Given the description of an element on the screen output the (x, y) to click on. 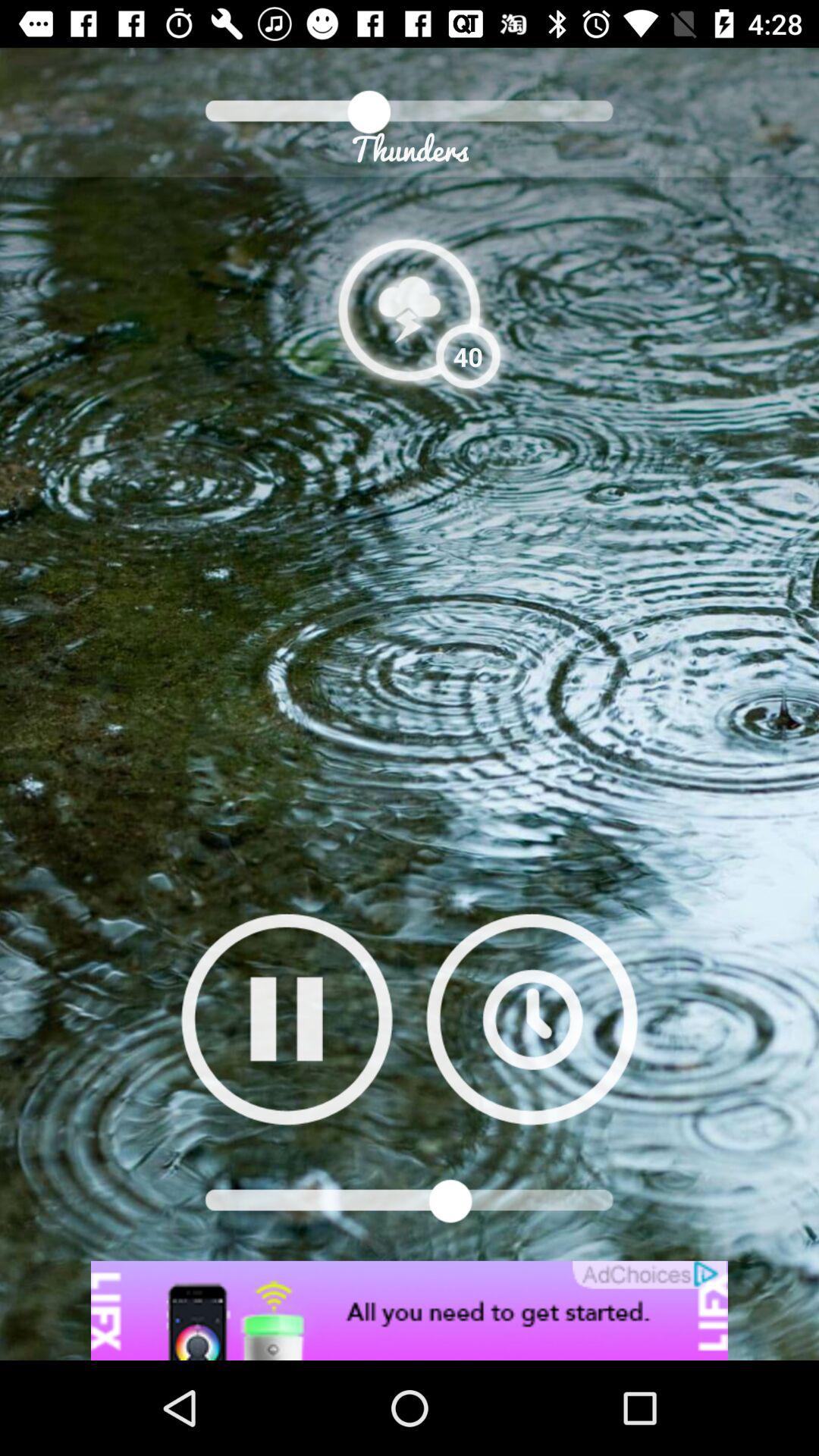
set timer (531, 1018)
